Given the description of an element on the screen output the (x, y) to click on. 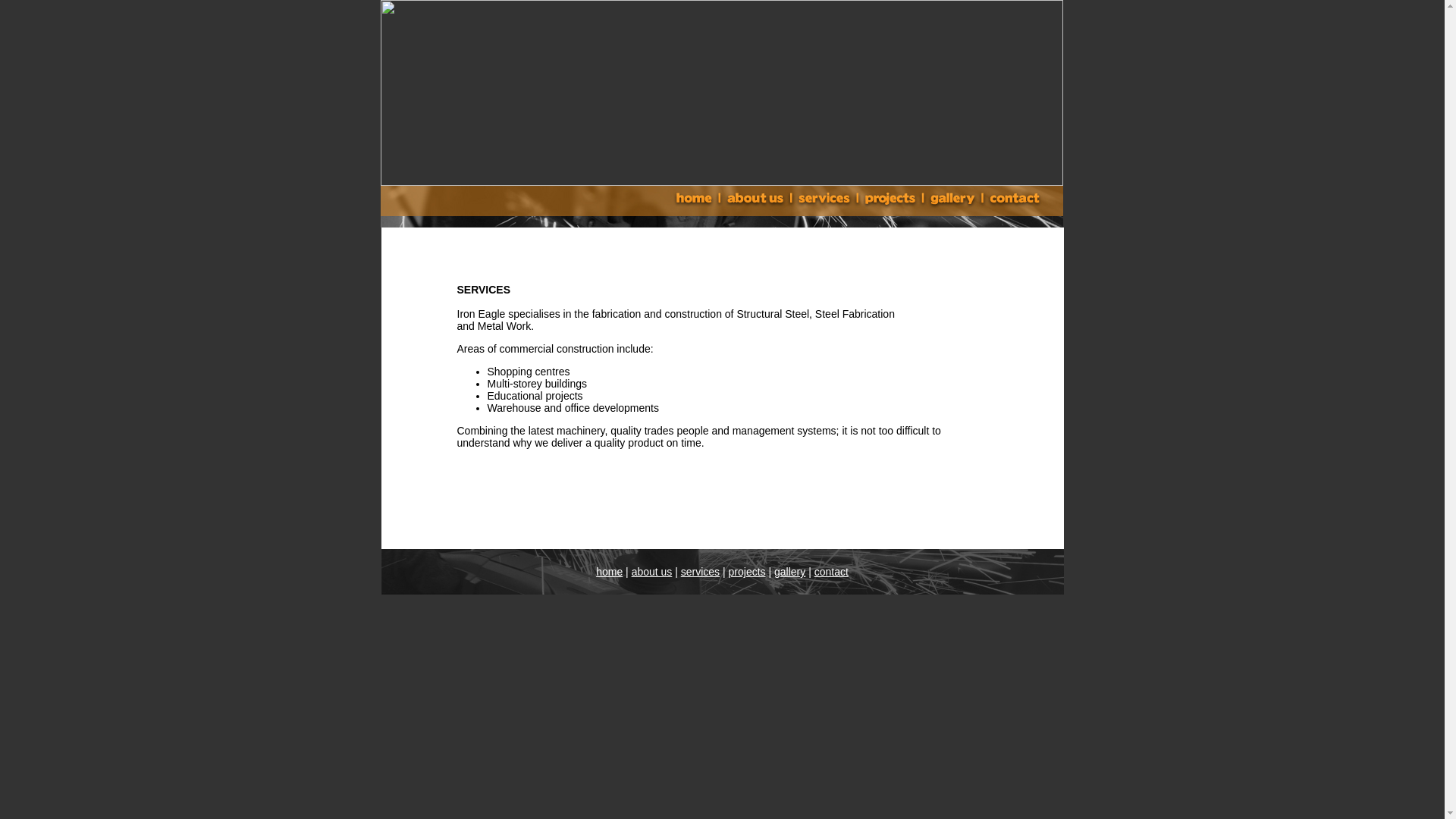
gallery Element type: text (789, 571)
contact Element type: text (831, 571)
services Element type: text (699, 571)
about us Element type: text (651, 571)
home Element type: text (609, 571)
projects Element type: text (746, 571)
